Given the description of an element on the screen output the (x, y) to click on. 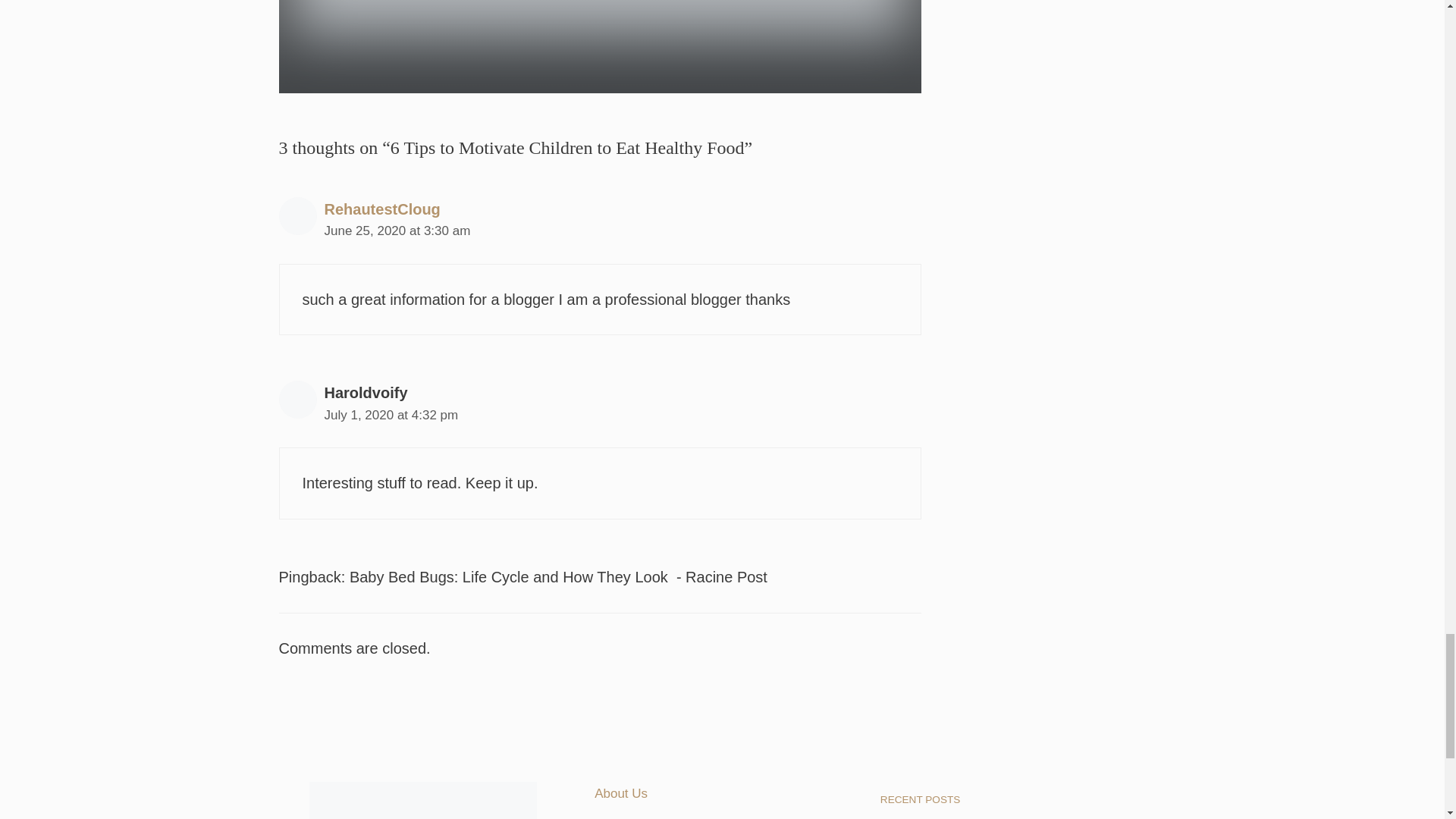
July 1, 2020 at 4:32 pm (391, 414)
RehautestCloug (382, 208)
June 25, 2020 at 3:30 am (397, 230)
